Given the description of an element on the screen output the (x, y) to click on. 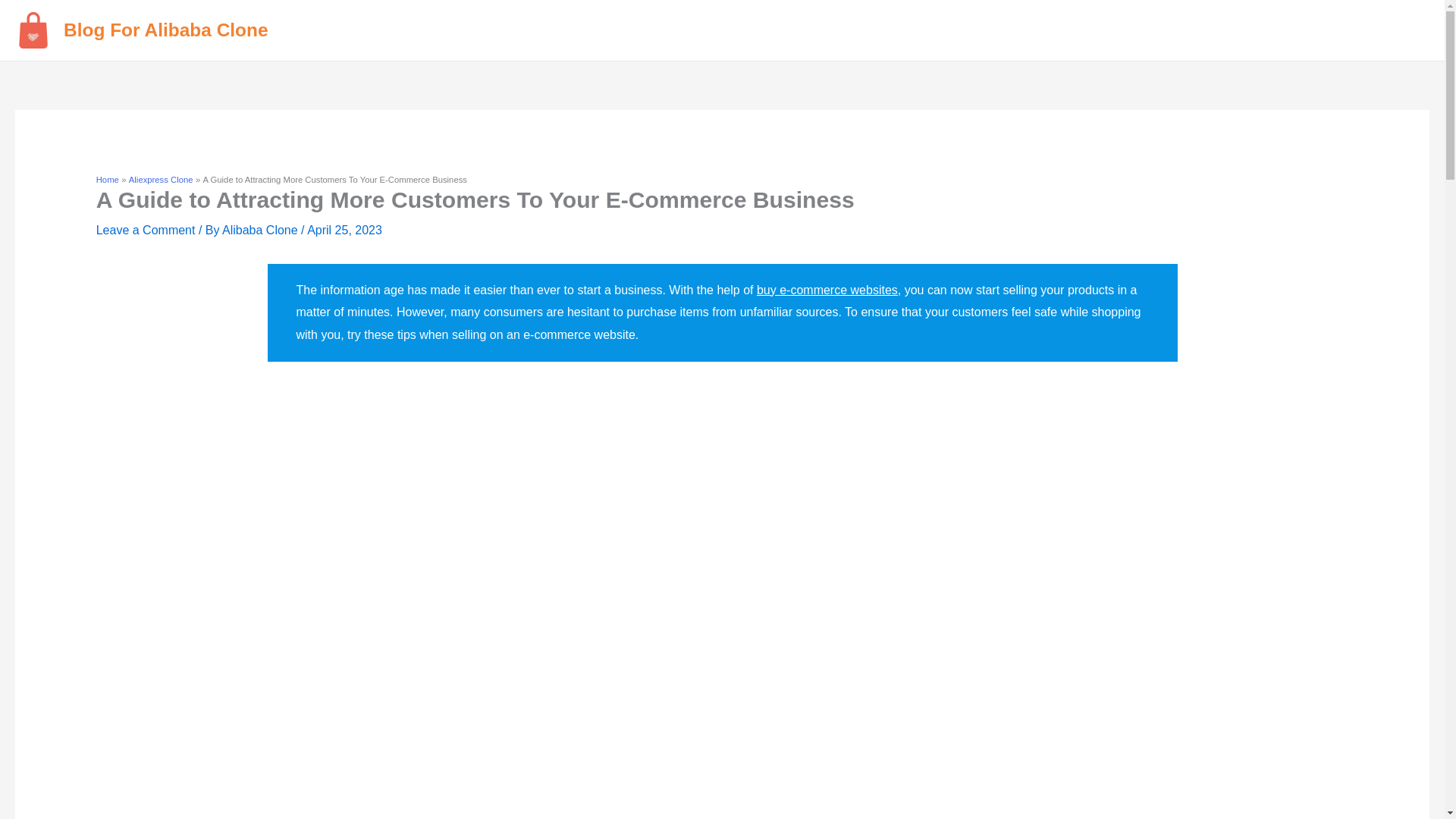
Leave a Comment (145, 229)
Home (107, 179)
buy e-commerce websites (827, 289)
Blog For Alibaba Clone (165, 29)
View all posts by Alibaba Clone (261, 229)
Aliexpress Clone (161, 179)
Alibaba Clone (261, 229)
